Given the description of an element on the screen output the (x, y) to click on. 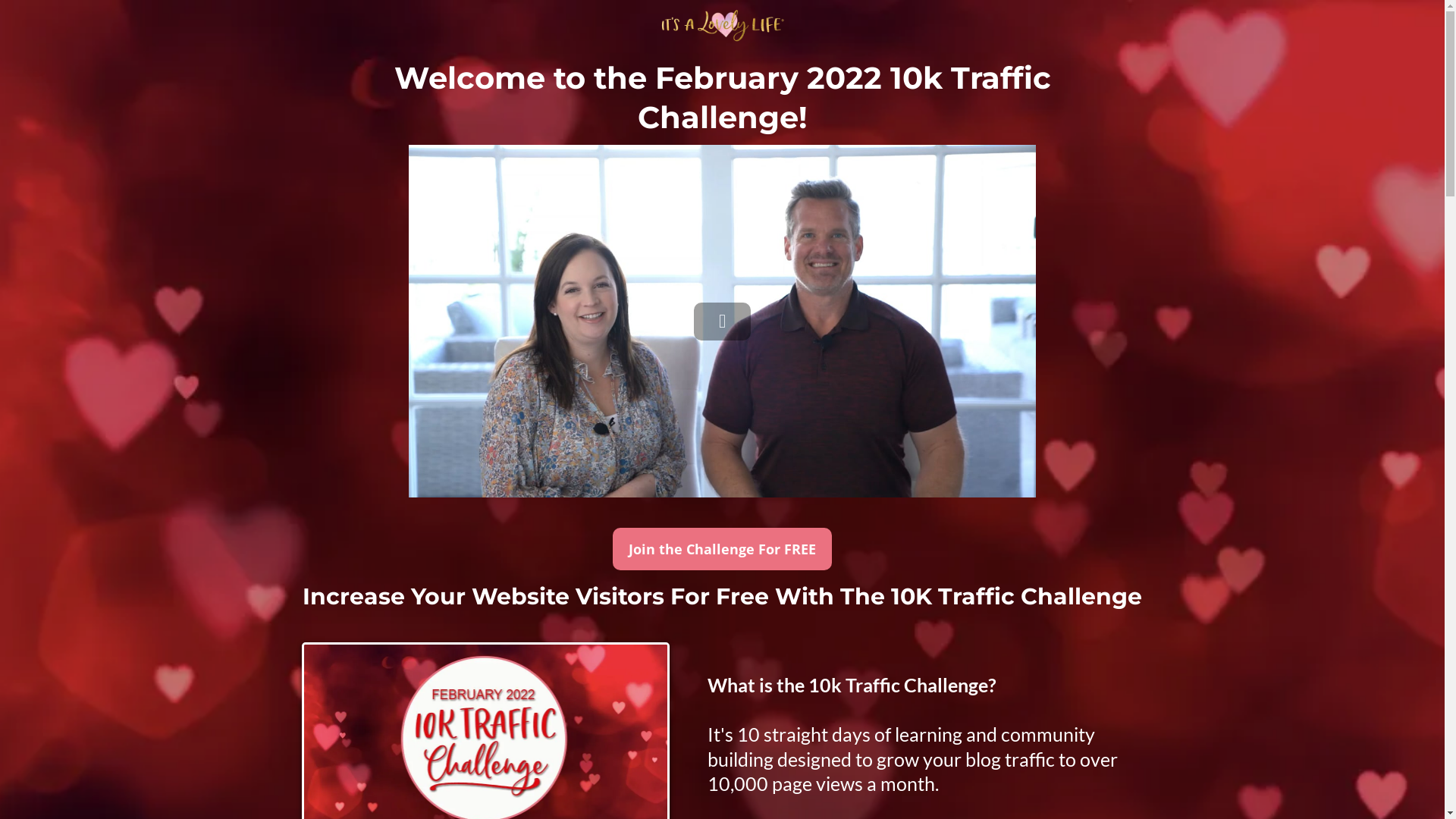
Join the Challenge For FREE Element type: text (721, 548)
